Given the description of an element on the screen output the (x, y) to click on. 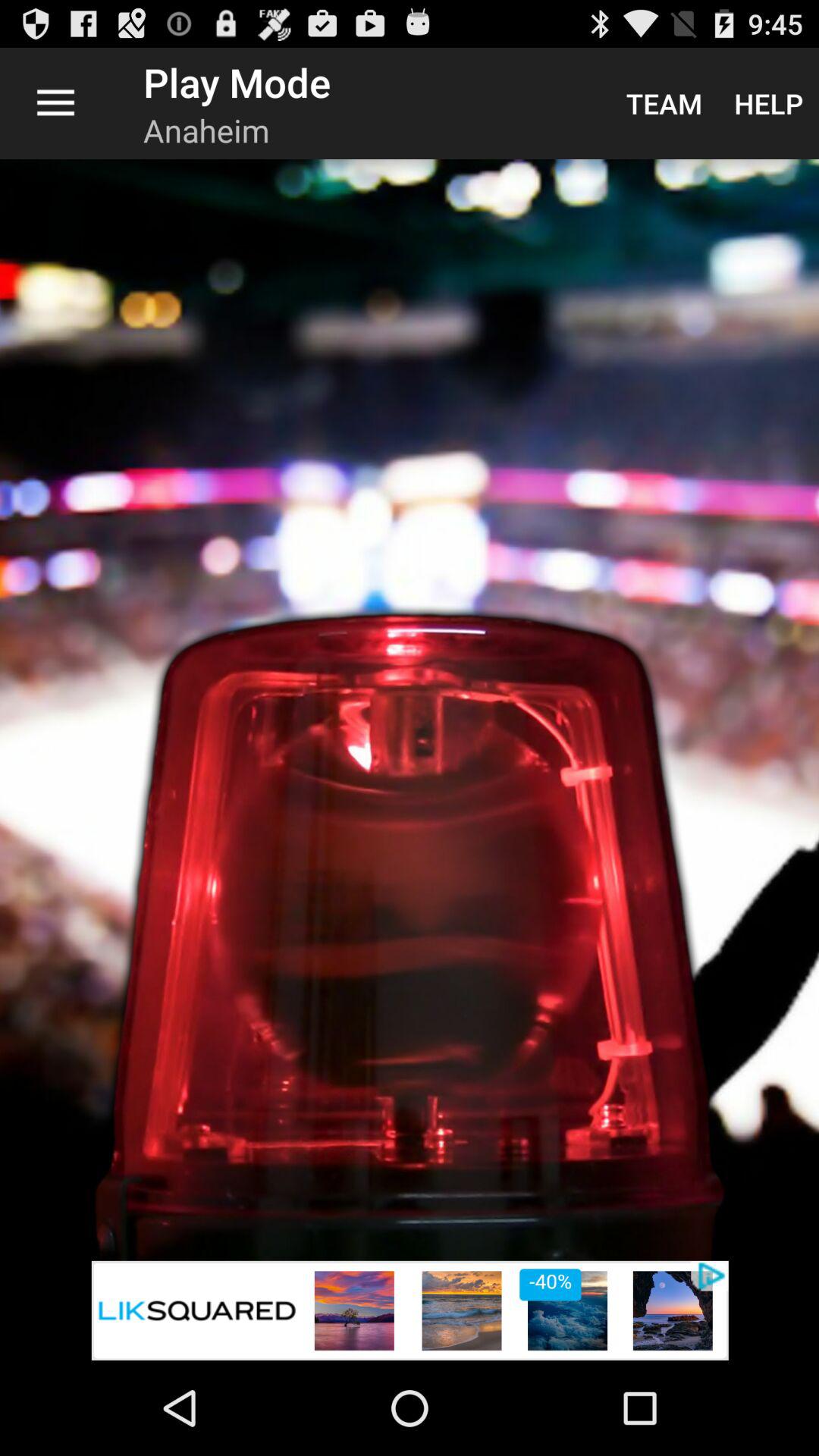
go to advertisement company (409, 1310)
